Given the description of an element on the screen output the (x, y) to click on. 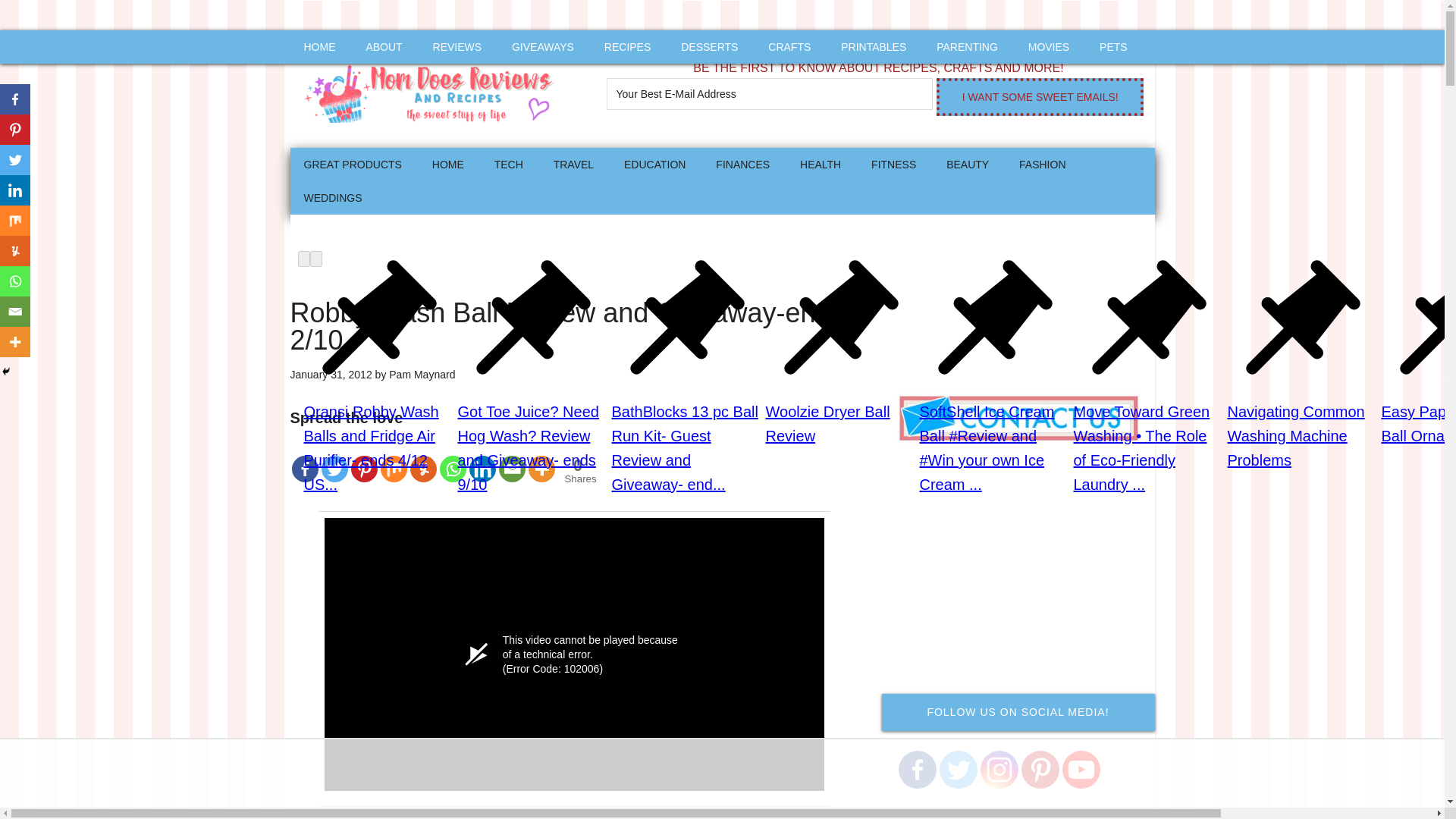
Home (448, 164)
REVIEWS (457, 46)
FASHION (1042, 164)
HOME (448, 164)
HEALTH (820, 164)
PETS (1113, 46)
WEDDINGS (332, 197)
Pam Maynard (421, 374)
HOME (319, 46)
FITNESS (893, 164)
PRINTABLES (873, 46)
Mom Does Reviews (433, 88)
RECIPES (627, 46)
I want some Sweet Emails! (1039, 96)
FINANCES (742, 164)
